Given the description of an element on the screen output the (x, y) to click on. 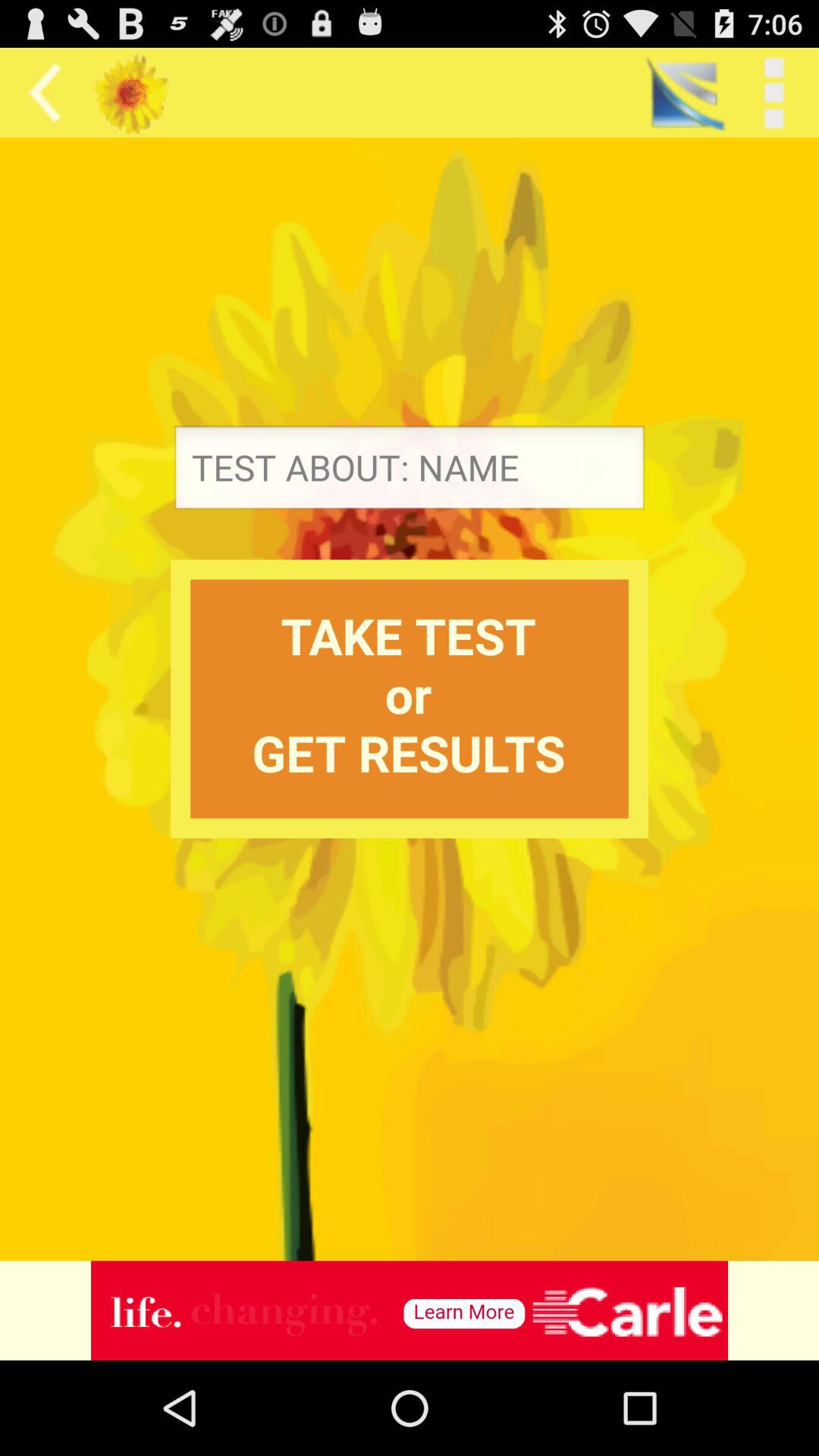
type text box (409, 471)
